Given the description of an element on the screen output the (x, y) to click on. 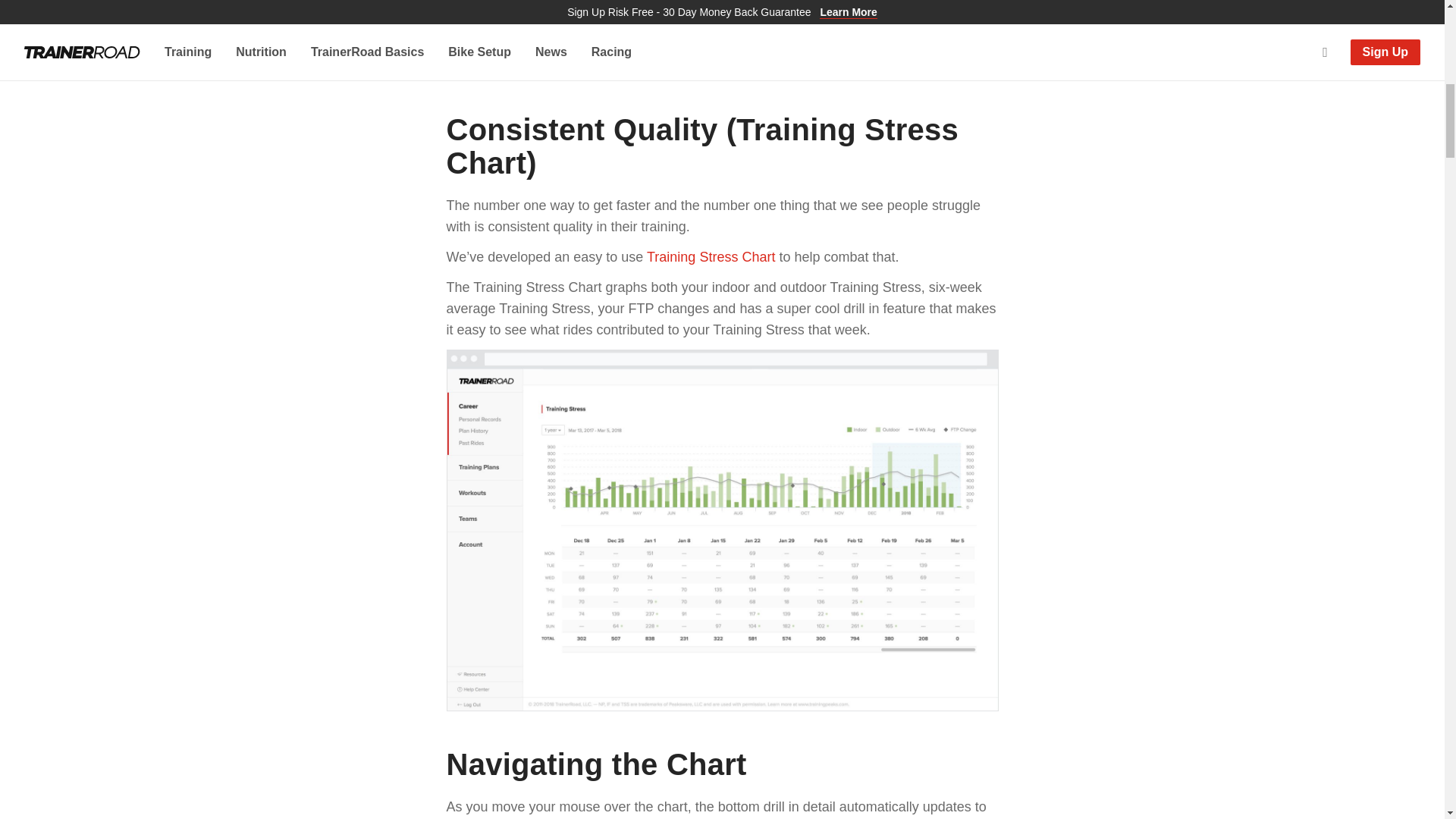
Training Stress Chart (710, 256)
